Given the description of an element on the screen output the (x, y) to click on. 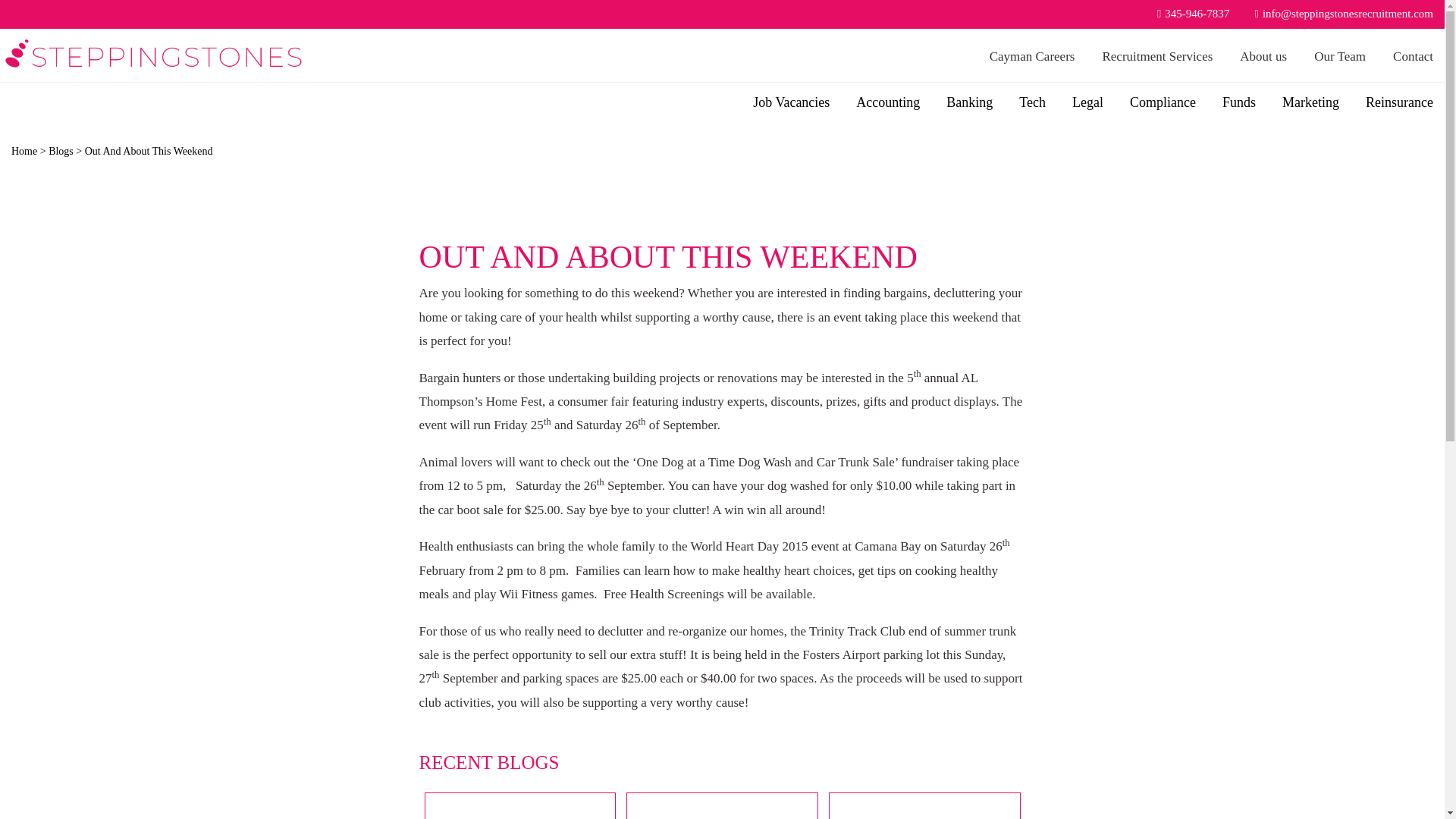
Go to SteppingStones Recruitment. (24, 151)
Go to the Blogs category archives. (61, 151)
Recruitment Services (1159, 56)
Cayman Careers (1034, 56)
345-946-7837 (1187, 14)
